Given the description of an element on the screen output the (x, y) to click on. 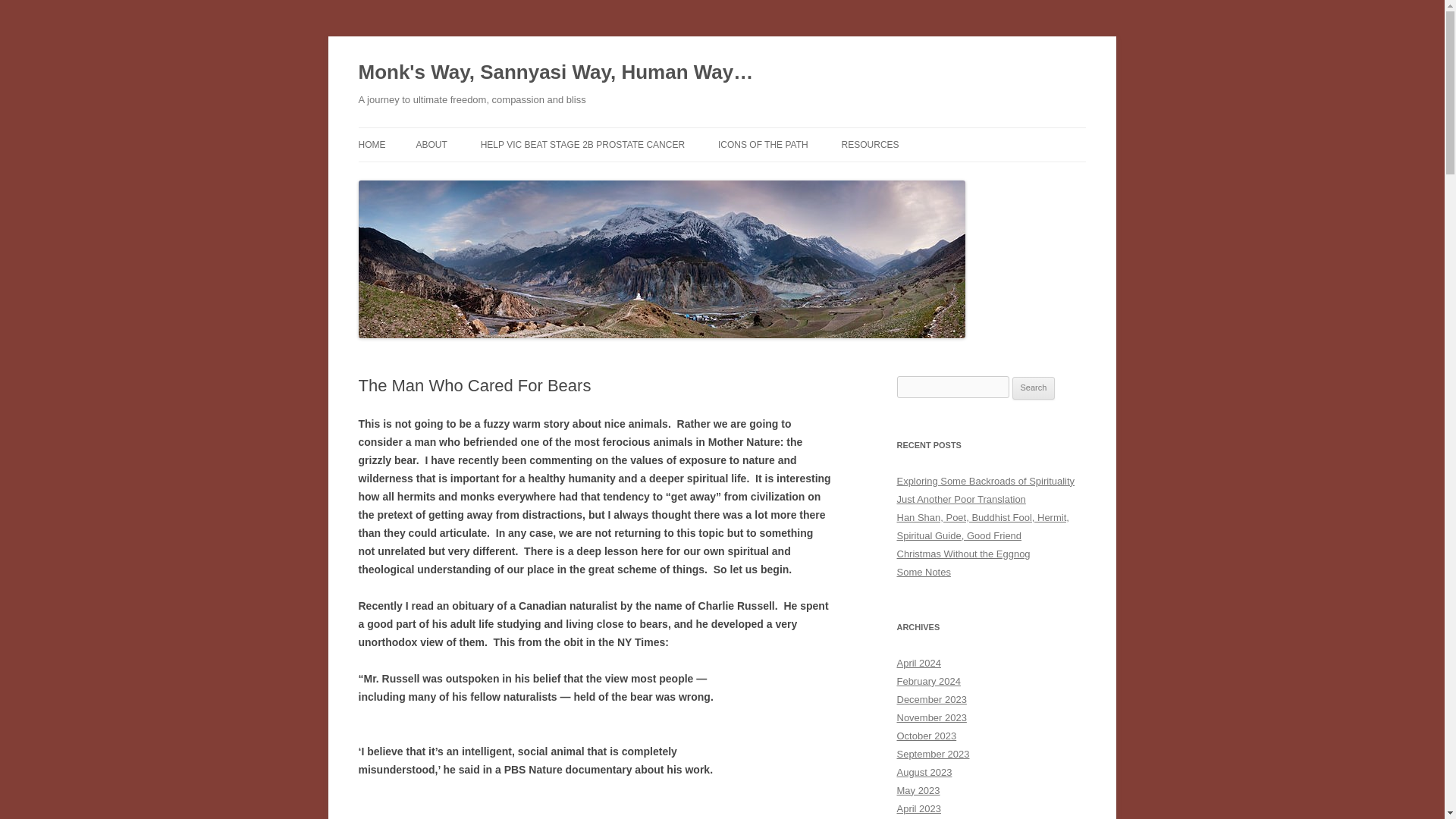
October 2023 (926, 736)
HELP VIC BEAT STAGE 2B PROSTATE CANCER (582, 144)
September 2023 (932, 754)
Some Notes (923, 572)
HOME (371, 144)
ABOUT (430, 144)
May 2023 (917, 790)
April 2023 (918, 808)
Exploring Some Backroads of Spirituality (985, 480)
November 2023 (931, 717)
Search (1033, 387)
February 2024 (927, 681)
December 2023 (931, 699)
Christmas Without the Eggnog (962, 553)
